Given the description of an element on the screen output the (x, y) to click on. 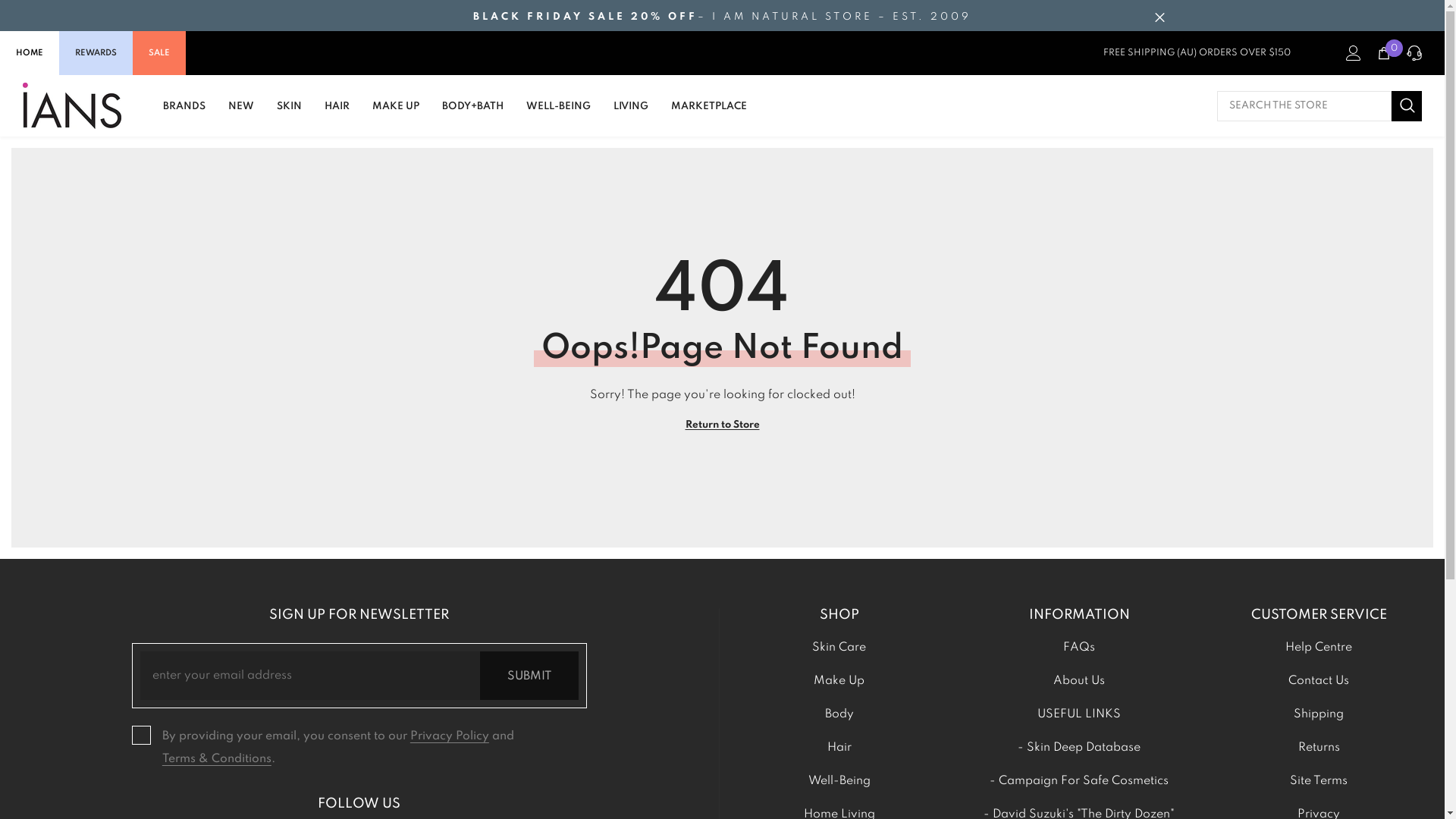
Terms & Conditions Element type: text (216, 758)
MARKETPLACE Element type: text (708, 113)
WELL-BEING Element type: text (558, 113)
Hair Element type: text (839, 747)
Contact Us Element type: text (1318, 680)
SKIN Element type: text (289, 113)
Body Element type: text (839, 714)
Log in Element type: text (1353, 52)
SALE Element type: text (158, 53)
Privacy Policy Element type: text (449, 735)
About Us Element type: text (1078, 680)
Shipping Element type: text (1318, 714)
- Skin Deep Database Element type: text (1078, 747)
Site Terms Element type: text (1318, 780)
SUBMIT Element type: text (529, 675)
HAIR Element type: text (336, 113)
BLACK FRIDAY SALE 20% OFF Element type: text (585, 17)
Help Centre Element type: text (1318, 647)
Well-Being Element type: text (839, 780)
LIVING Element type: text (630, 113)
Cart
0
0 items Element type: text (1383, 52)
Make Up Element type: text (838, 680)
Skin Care Element type: text (839, 647)
BRANDS Element type: text (183, 113)
USEFUL LINKS Element type: text (1078, 714)
FAQs Element type: text (1079, 647)
Close Element type: text (1158, 16)
BODY+BATH Element type: text (472, 113)
HOME Element type: text (29, 53)
- Campaign For Safe Cosmetics Element type: text (1078, 780)
Return to Store Element type: text (722, 425)
REWARDS Element type: text (95, 53)
NEW Element type: text (240, 113)
Returns Element type: text (1318, 747)
MAKE UP Element type: text (395, 113)
